Given the description of an element on the screen output the (x, y) to click on. 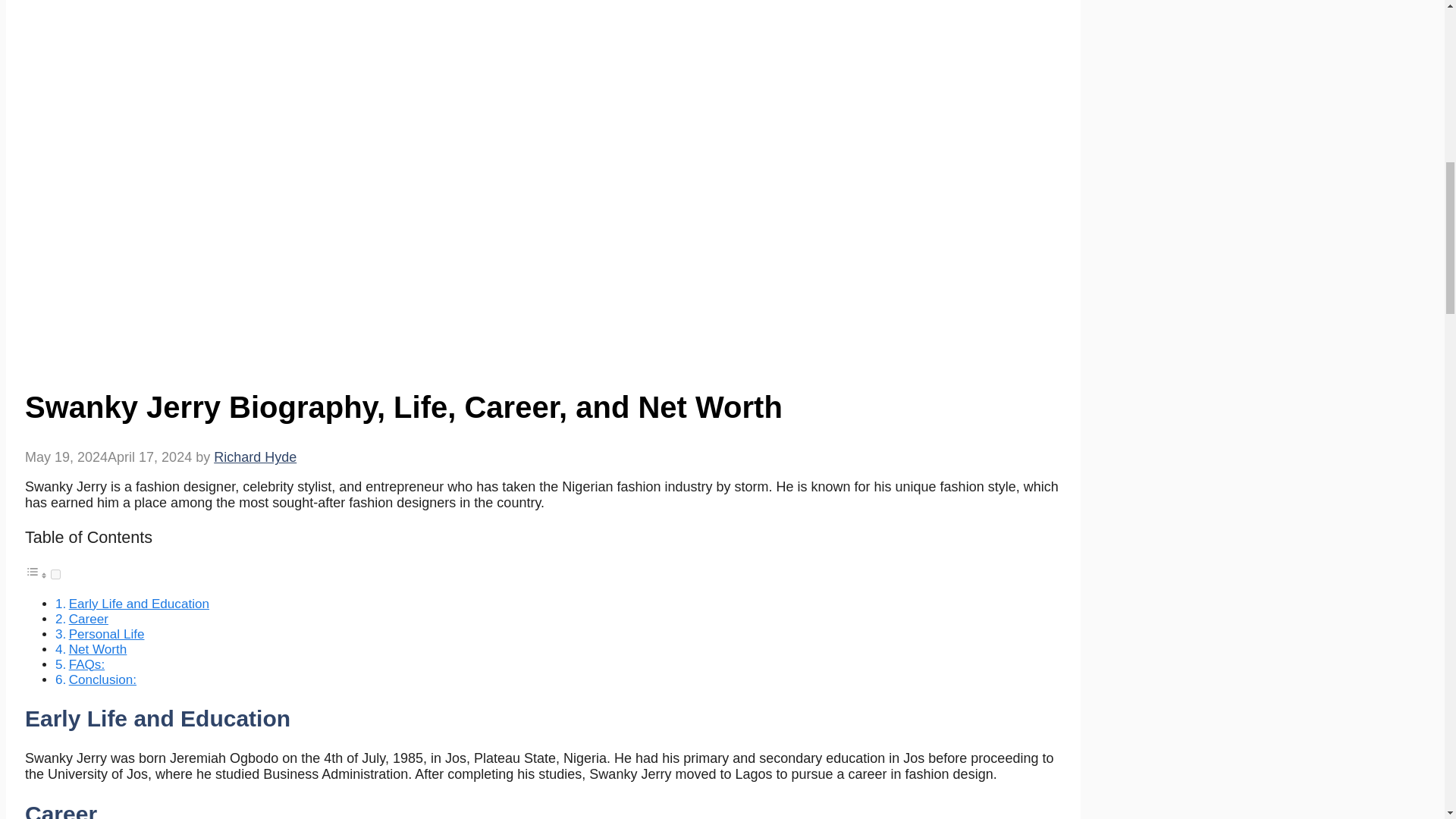
Richard Hyde (255, 457)
Career (87, 618)
Conclusion: (102, 679)
on (55, 574)
Conclusion: (102, 679)
Early Life and Education (138, 603)
FAQs: (86, 664)
Personal Life (106, 634)
Scroll back to top (1406, 720)
Career (87, 618)
Net Worth (98, 649)
View all posts by Richard Hyde (255, 457)
Personal Life (106, 634)
Net Worth (98, 649)
FAQs: (86, 664)
